Given the description of an element on the screen output the (x, y) to click on. 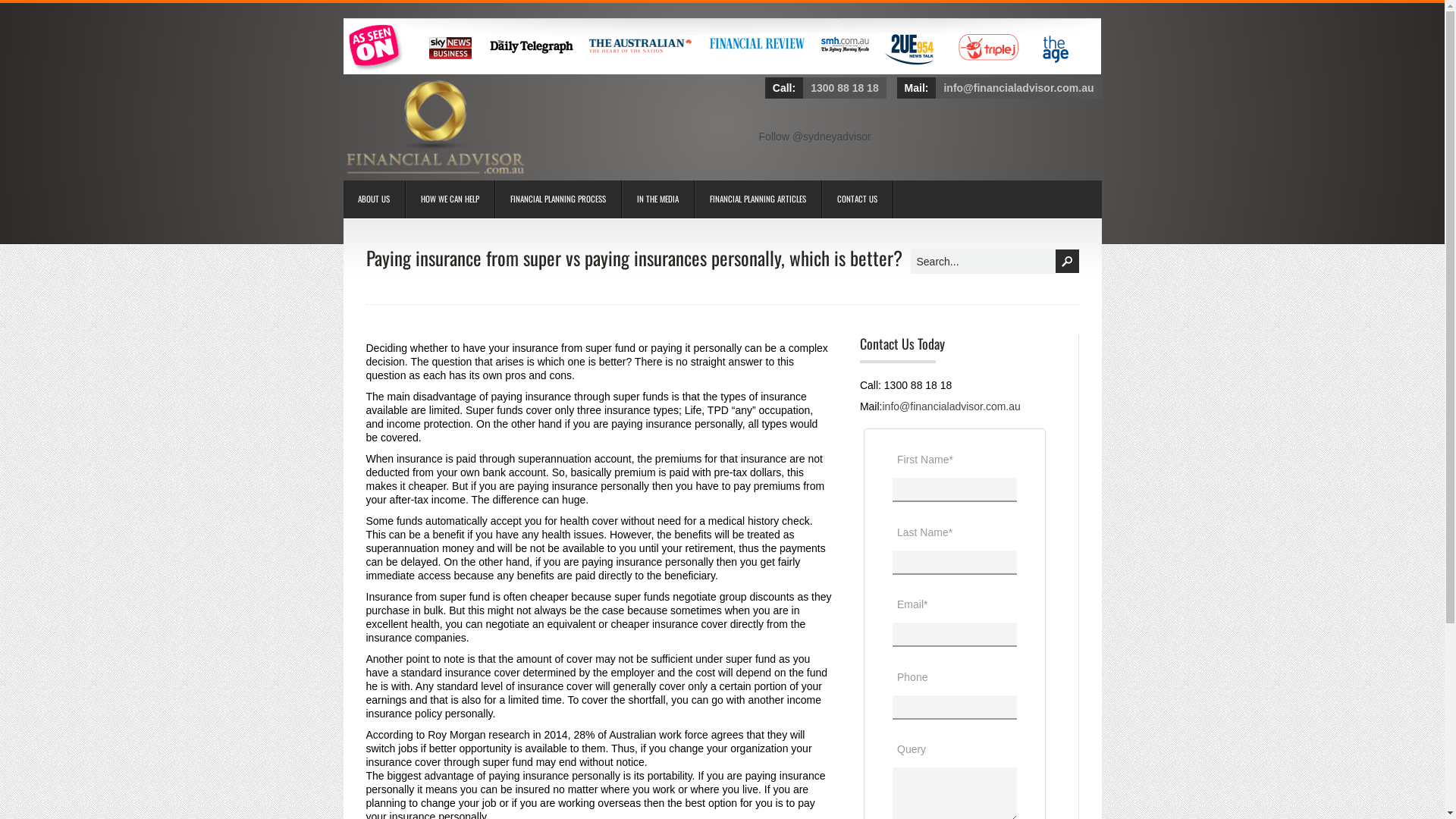
HOW WE CAN HELP Element type: text (445, 198)
IN THE MEDIA Element type: text (653, 198)
info@financialadvisor.com.au Element type: text (950, 406)
ABOUT US Element type: text (369, 198)
FINANCIAL PLANNING ARTICLES Element type: text (754, 198)
Follow @sydneyadvisor Element type: text (815, 136)
CONTACT US Element type: text (853, 198)
FINANCIAL PLANNING PROCESS Element type: text (553, 198)
